Given the description of an element on the screen output the (x, y) to click on. 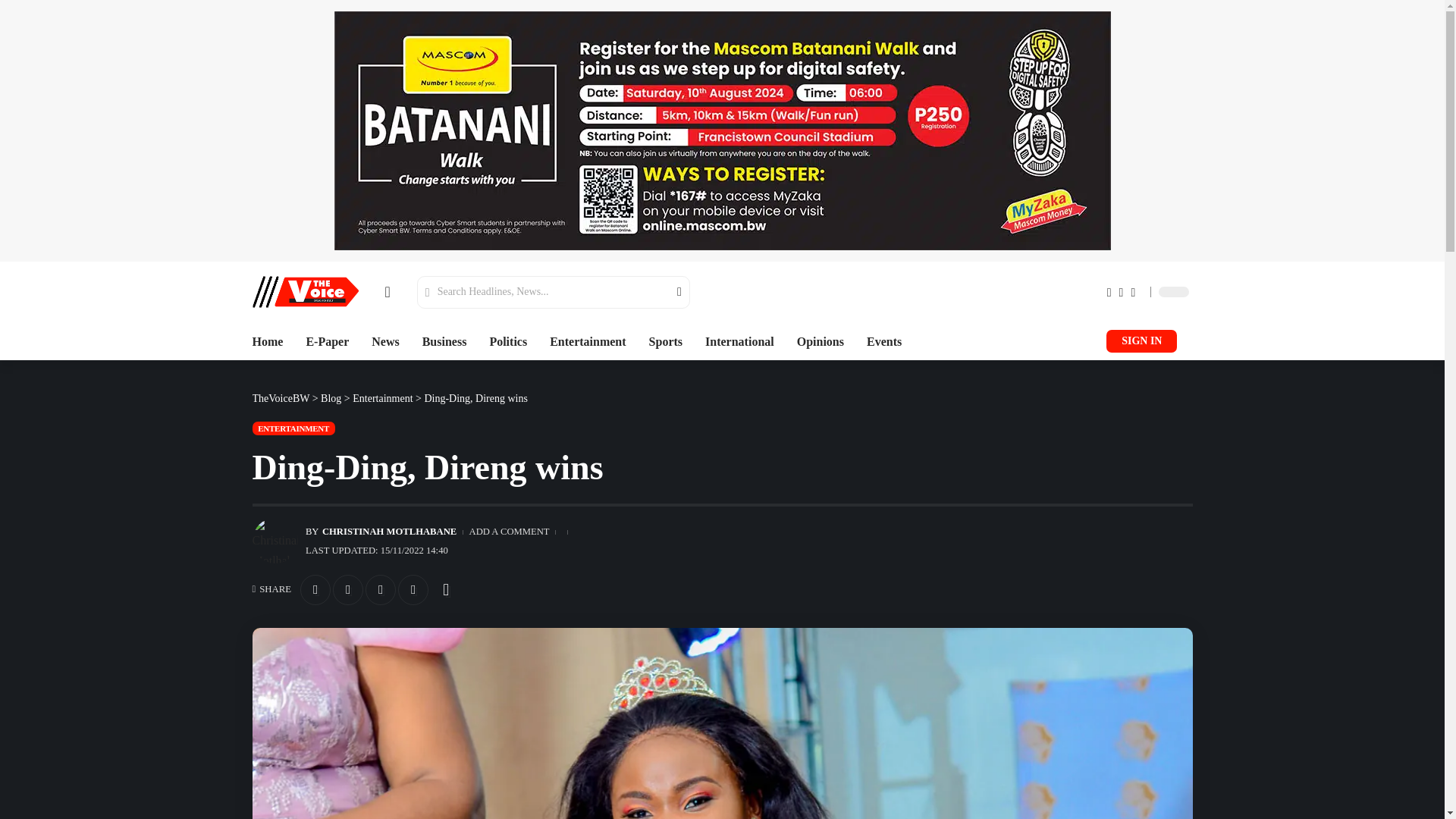
Search (669, 291)
E-Paper (327, 341)
Events (883, 341)
Go to the Entertainment Category archives. (382, 398)
Home (266, 341)
Opinions (820, 341)
Politics (508, 341)
International (739, 341)
Entertainment (588, 341)
Sports (665, 341)
News (384, 341)
Go to Blog. (330, 398)
Business (444, 341)
SIGN IN (1141, 341)
Go to TheVoiceBW. (279, 398)
